Given the description of an element on the screen output the (x, y) to click on. 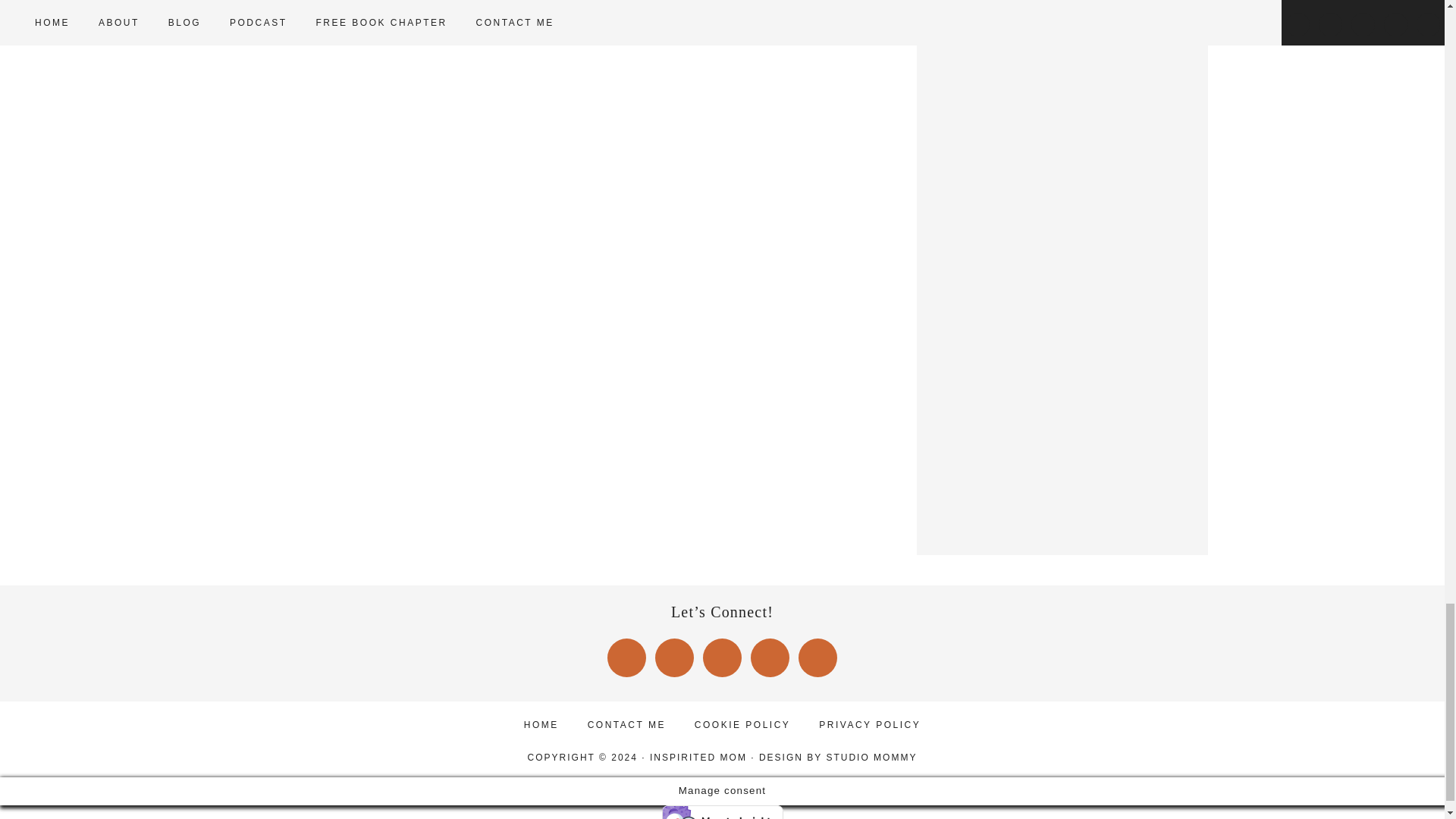
Verified by MonsterInsights (722, 812)
